Given the description of an element on the screen output the (x, y) to click on. 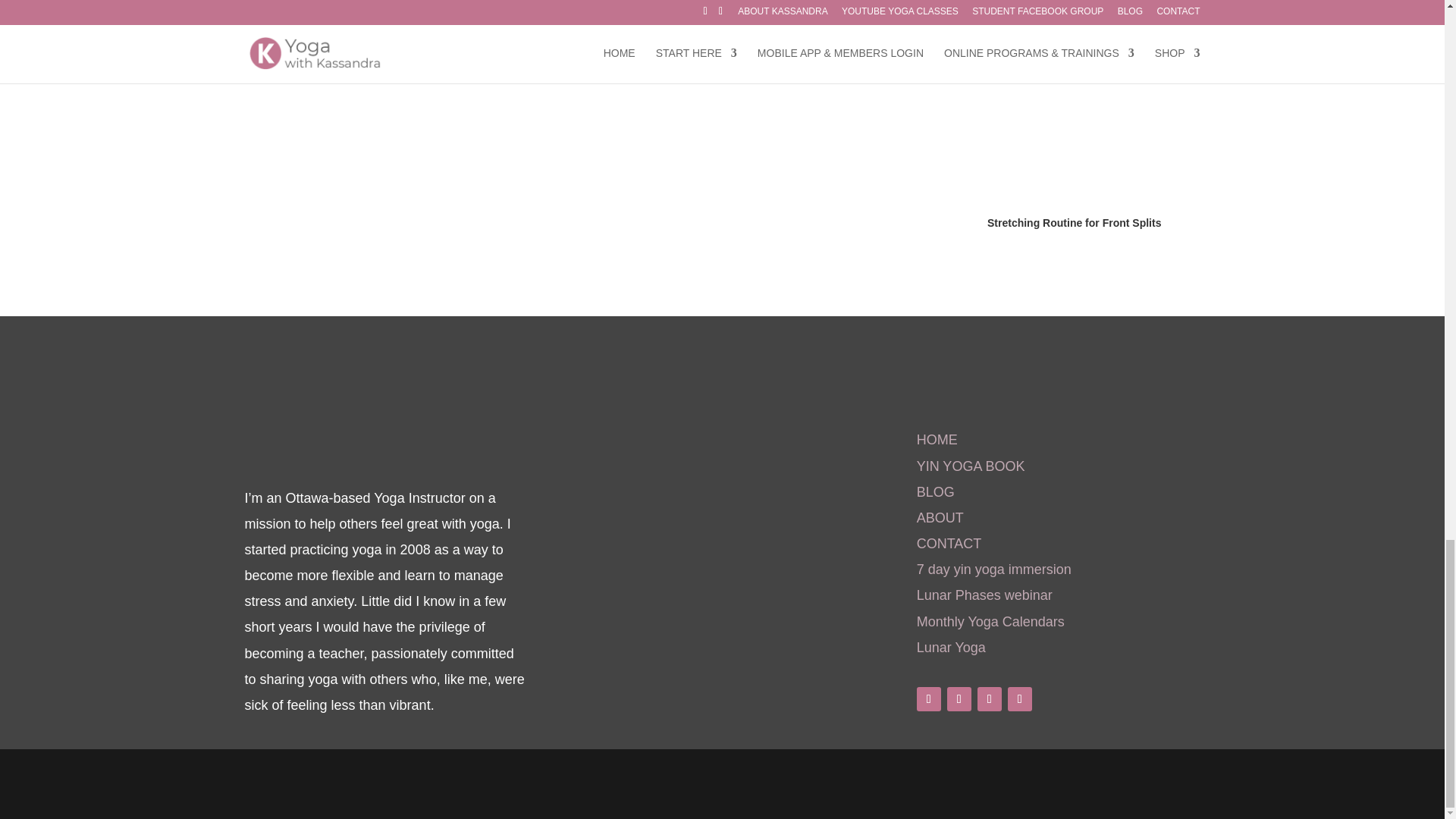
Follow on Facebook (928, 699)
Follow on Youtube (959, 699)
Follow on Instagram (988, 699)
fb:page Facebook Social Plugin (698, 507)
Follow on Pinterest (1019, 699)
